Given the description of an element on the screen output the (x, y) to click on. 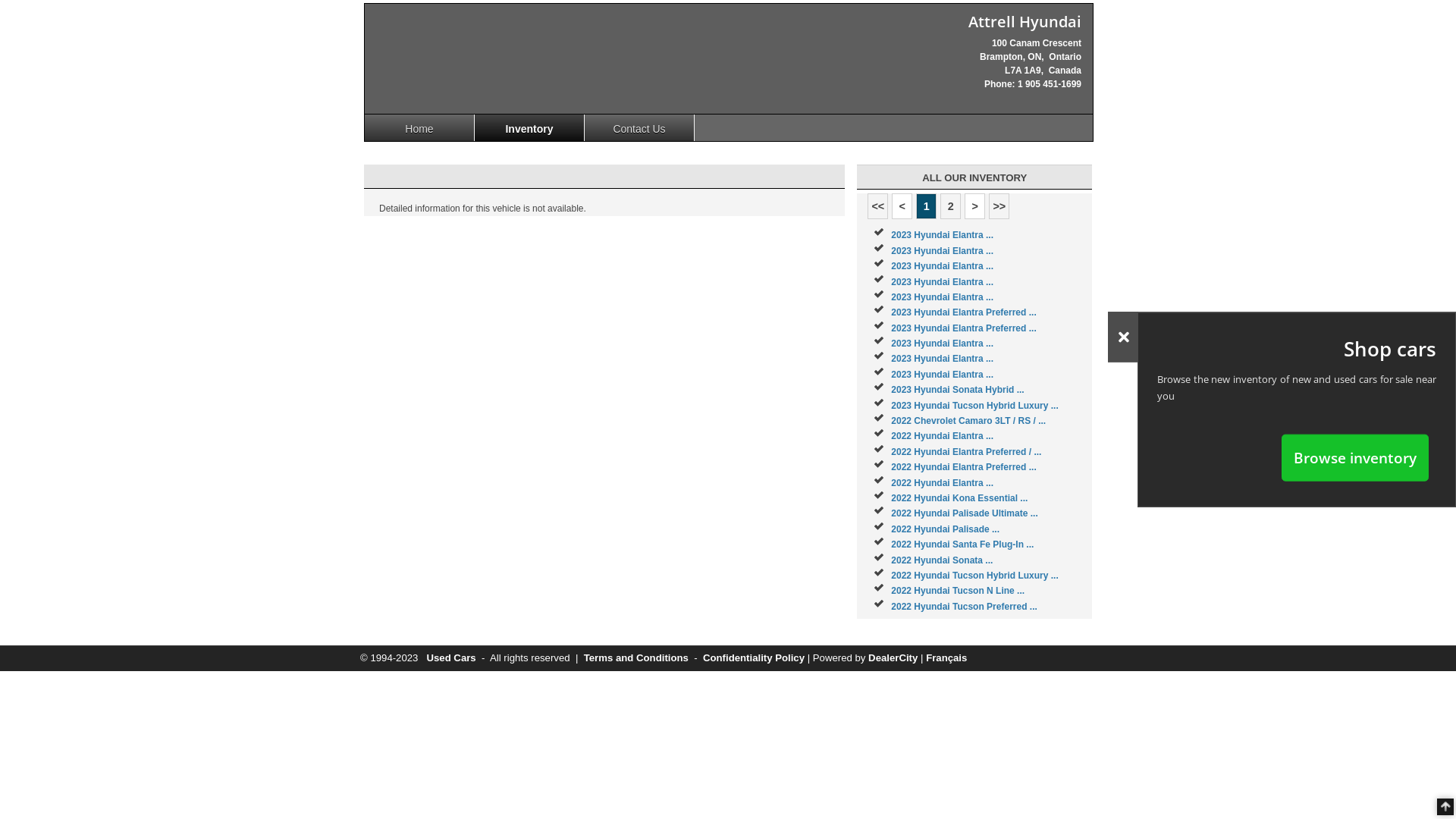
DealerCity Element type: text (892, 657)
2022 Hyundai Palisade Ultimate ... Element type: text (964, 513)
Inventory Element type: text (529, 127)
2022 Hyundai Kona Essential ... Element type: text (959, 497)
< Element type: text (901, 206)
<< Element type: text (877, 206)
2022 Hyundai Tucson Hybrid Luxury ... Element type: text (974, 575)
2023 Hyundai Elantra Preferred ... Element type: text (963, 312)
2022 Hyundai Elantra Preferred ... Element type: text (963, 466)
2022 Hyundai Elantra ... Element type: text (942, 482)
2023 Hyundai Elantra ... Element type: text (942, 250)
2022 Hyundai Santa Fe Plug-In ... Element type: text (962, 544)
Confidentiality Policy Element type: text (753, 657)
2023 Hyundai Elantra ... Element type: text (942, 296)
Home Element type: text (419, 127)
>> Element type: text (998, 206)
2022 Hyundai Sonata ... Element type: text (941, 560)
2022 Hyundai Tucson Preferred ... Element type: text (964, 606)
2023 Hyundai Elantra ... Element type: text (942, 265)
2022 Hyundai Tucson N Line ... Element type: text (957, 590)
2022 Hyundai Elantra ... Element type: text (942, 435)
2023 Hyundai Sonata Hybrid ... Element type: text (957, 389)
2 Element type: text (950, 206)
2023 Hyundai Elantra ... Element type: text (942, 234)
> Element type: text (974, 206)
Browse inventory Element type: text (1354, 457)
2023 Hyundai Elantra ... Element type: text (942, 281)
2023 Hyundai Tucson Hybrid Luxury ... Element type: text (974, 405)
Terms and Conditions Element type: text (635, 657)
Used Cars Element type: text (450, 657)
2023 Hyundai Elantra Preferred ... Element type: text (963, 328)
2023 Hyundai Elantra ... Element type: text (942, 343)
2023 Hyundai Elantra ... Element type: text (942, 358)
2022 Chevrolet Camaro 3LT / RS / ... Element type: text (968, 420)
1 Element type: text (926, 206)
2022 Hyundai Palisade ... Element type: text (945, 529)
2023 Hyundai Elantra ... Element type: text (942, 374)
Contact Us Element type: text (639, 127)
2022 Hyundai Elantra Preferred / ... Element type: text (966, 451)
